Given the description of an element on the screen output the (x, y) to click on. 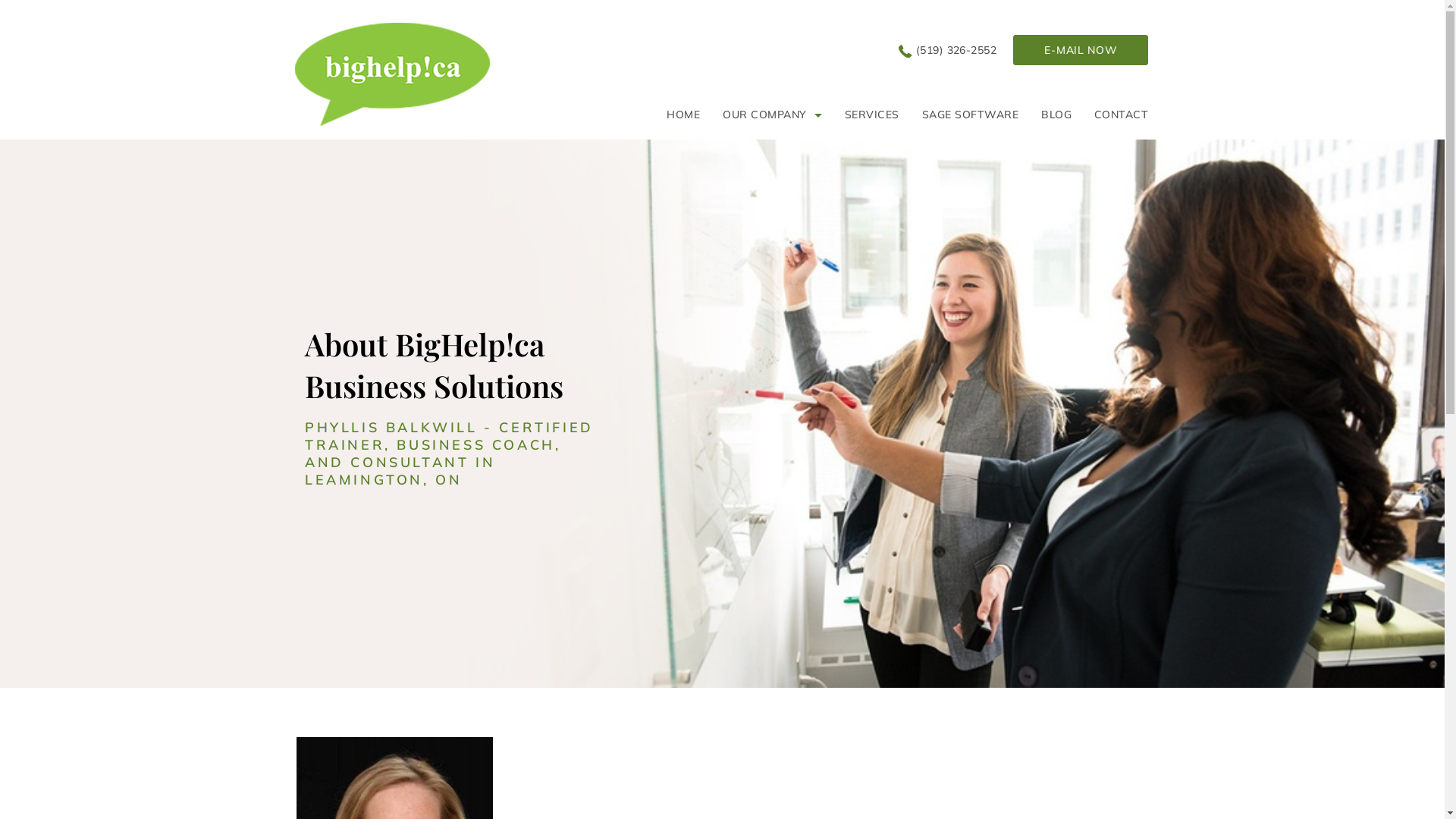
(519) 326-2552 Element type: text (947, 49)
BLOG Element type: text (1055, 114)
E-MAIL NOW Element type: text (1080, 49)
CONTACT Element type: text (1115, 114)
SERVICES Element type: text (871, 114)
OUR COMPANY Element type: text (771, 114)
SAGE SOFTWARE Element type: text (969, 114)
HOME Element type: text (683, 114)
